Given the description of an element on the screen output the (x, y) to click on. 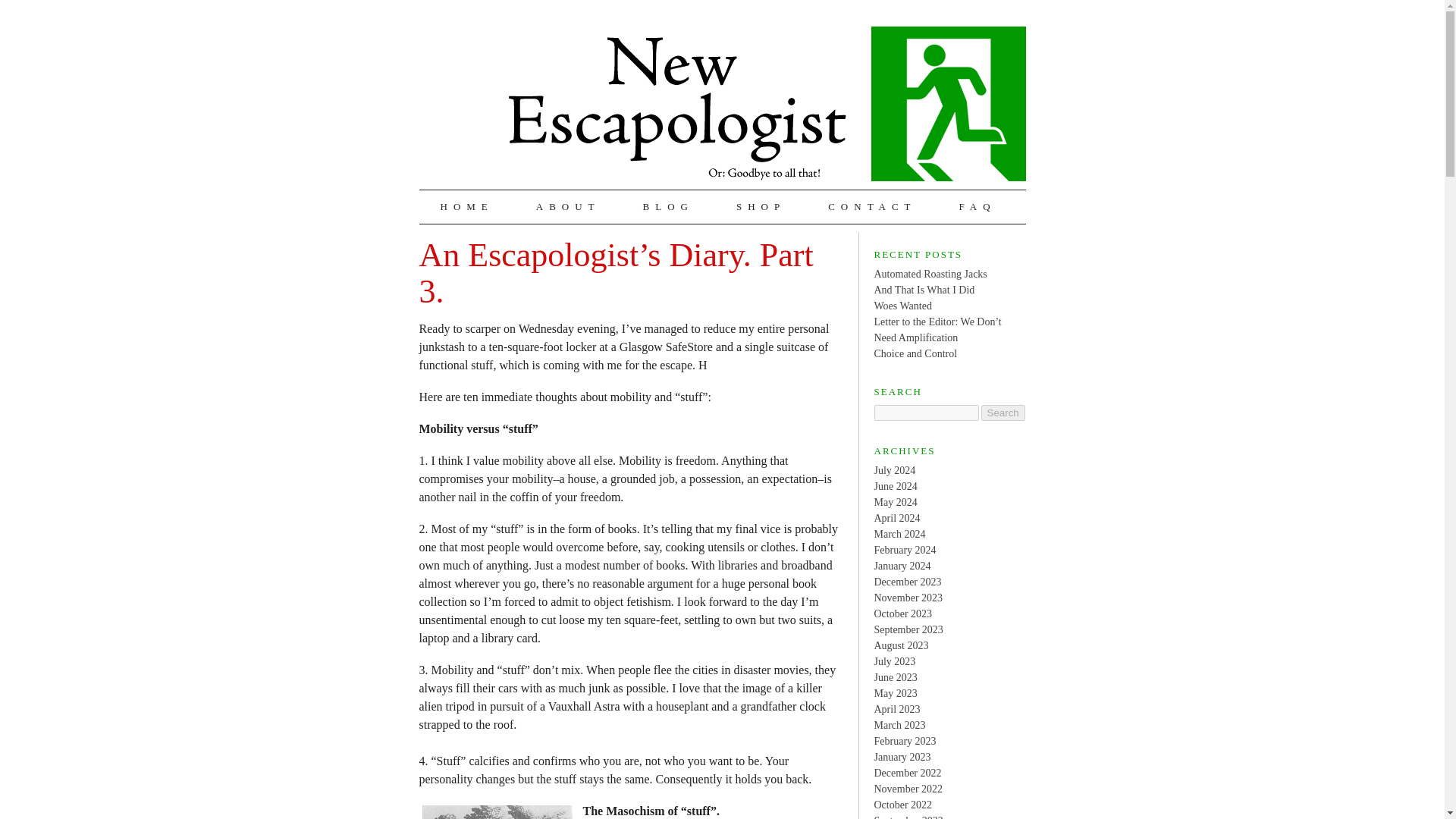
SHOP (760, 206)
New Escapologist (766, 103)
September 2023 (907, 628)
June 2024 (895, 486)
Search (1003, 412)
April 2024 (896, 518)
October 2023 (902, 613)
And That Is What I Did (923, 288)
BLOG (668, 206)
Automated Roasting Jacks (930, 274)
November 2023 (907, 596)
ABOUT (568, 206)
July 2024 (894, 469)
March 2024 (898, 532)
FAQ (977, 206)
